Given the description of an element on the screen output the (x, y) to click on. 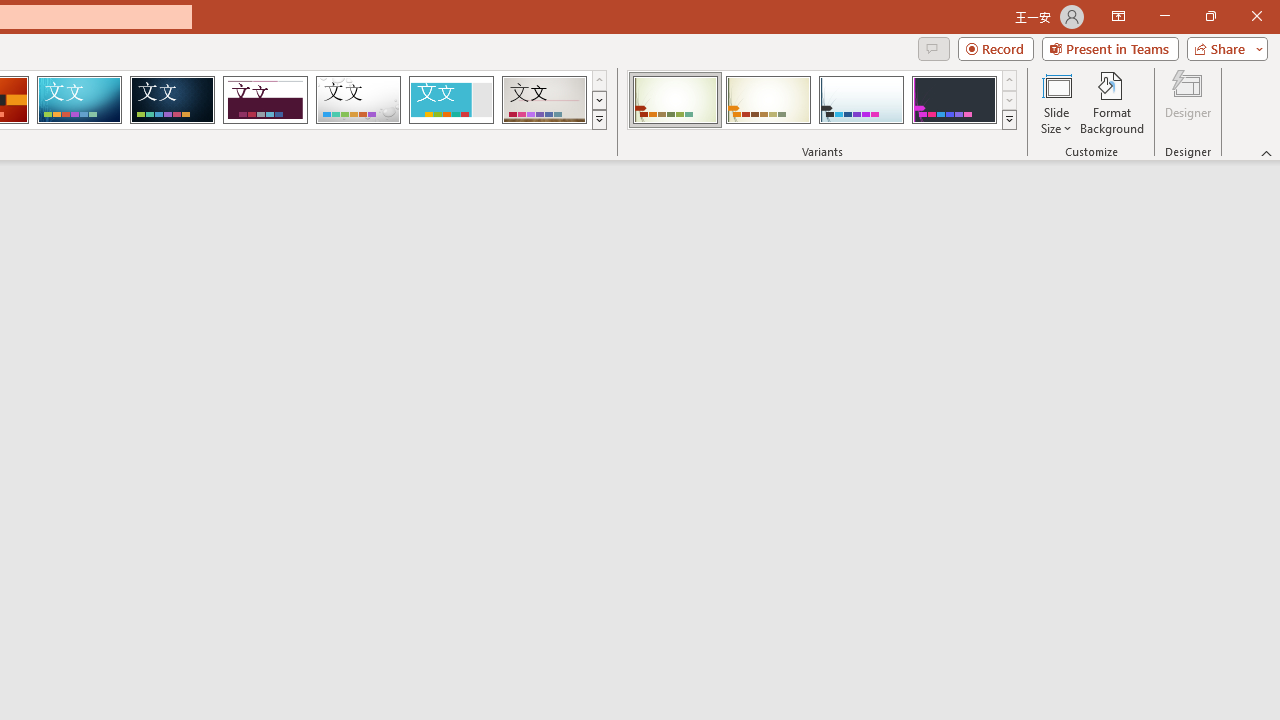
Gallery Loading Preview... (544, 100)
Wisp Variant 2 (768, 100)
Themes (598, 120)
Damask Loading Preview... (171, 100)
Variants (1009, 120)
Droplet Loading Preview... (358, 100)
AutomationID: ThemeVariantsGallery (822, 99)
Slide Size (1056, 102)
Circuit Loading Preview... (79, 100)
